Given the description of an element on the screen output the (x, y) to click on. 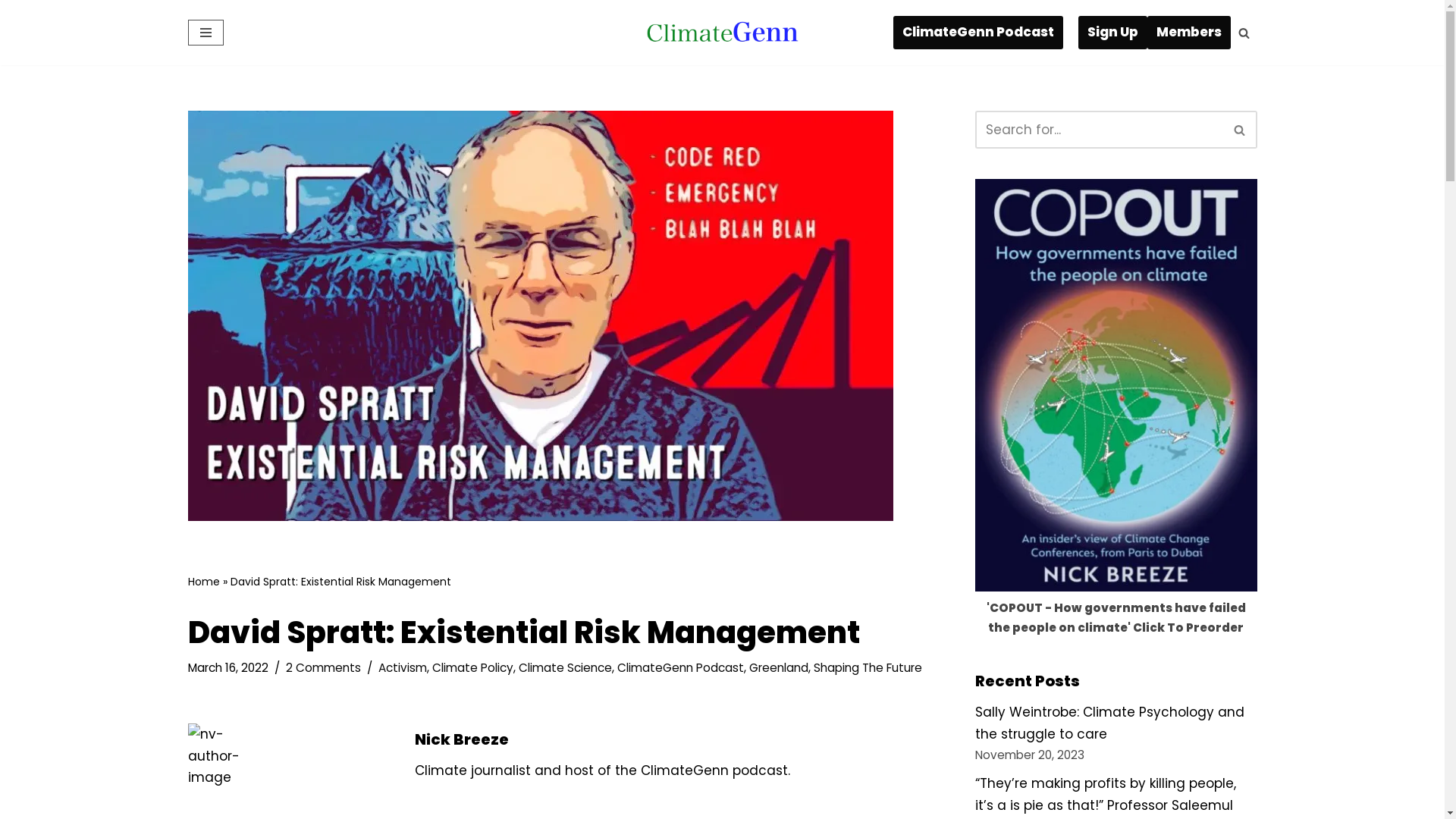
Home Element type: text (203, 581)
Sign Up Element type: text (1112, 31)
Sally Weintrobe: Climate Psychology and the struggle to care Element type: text (1109, 722)
Navigation Menu Element type: text (205, 32)
ClimateGenn Podcast Element type: text (978, 31)
2 Comments Element type: text (322, 667)
Greenland Element type: text (778, 667)
ClimateGenn Podcast Element type: text (680, 667)
Climate Policy Element type: text (472, 667)
Shaping The Future Element type: text (866, 667)
Members Element type: text (1188, 31)
Activism Element type: text (401, 667)
Skip to content Element type: text (11, 31)
Climate Science Element type: text (564, 667)
